Given the description of an element on the screen output the (x, y) to click on. 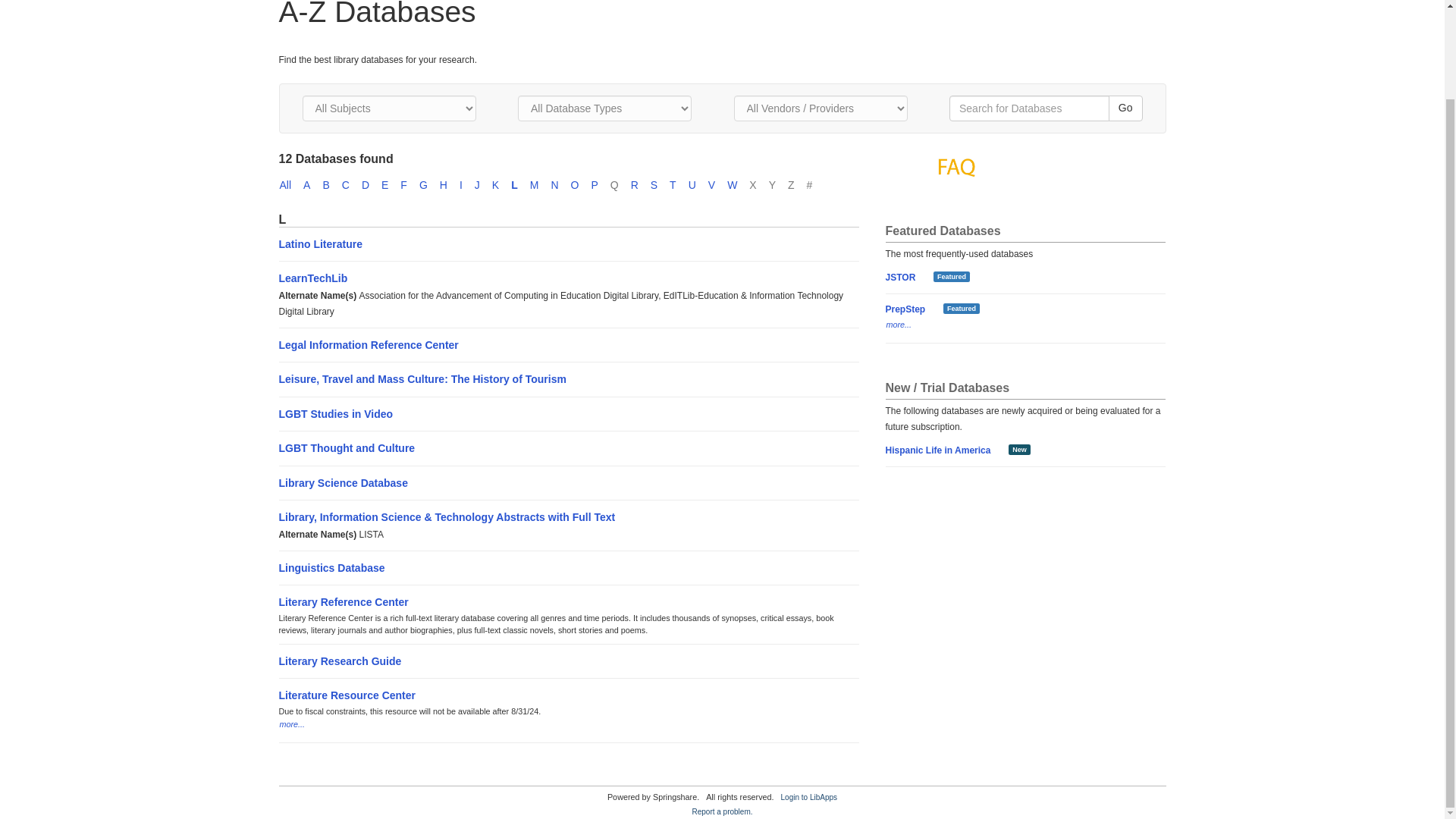
M (540, 185)
W (737, 185)
All (291, 185)
Go (1125, 108)
